Given the description of an element on the screen output the (x, y) to click on. 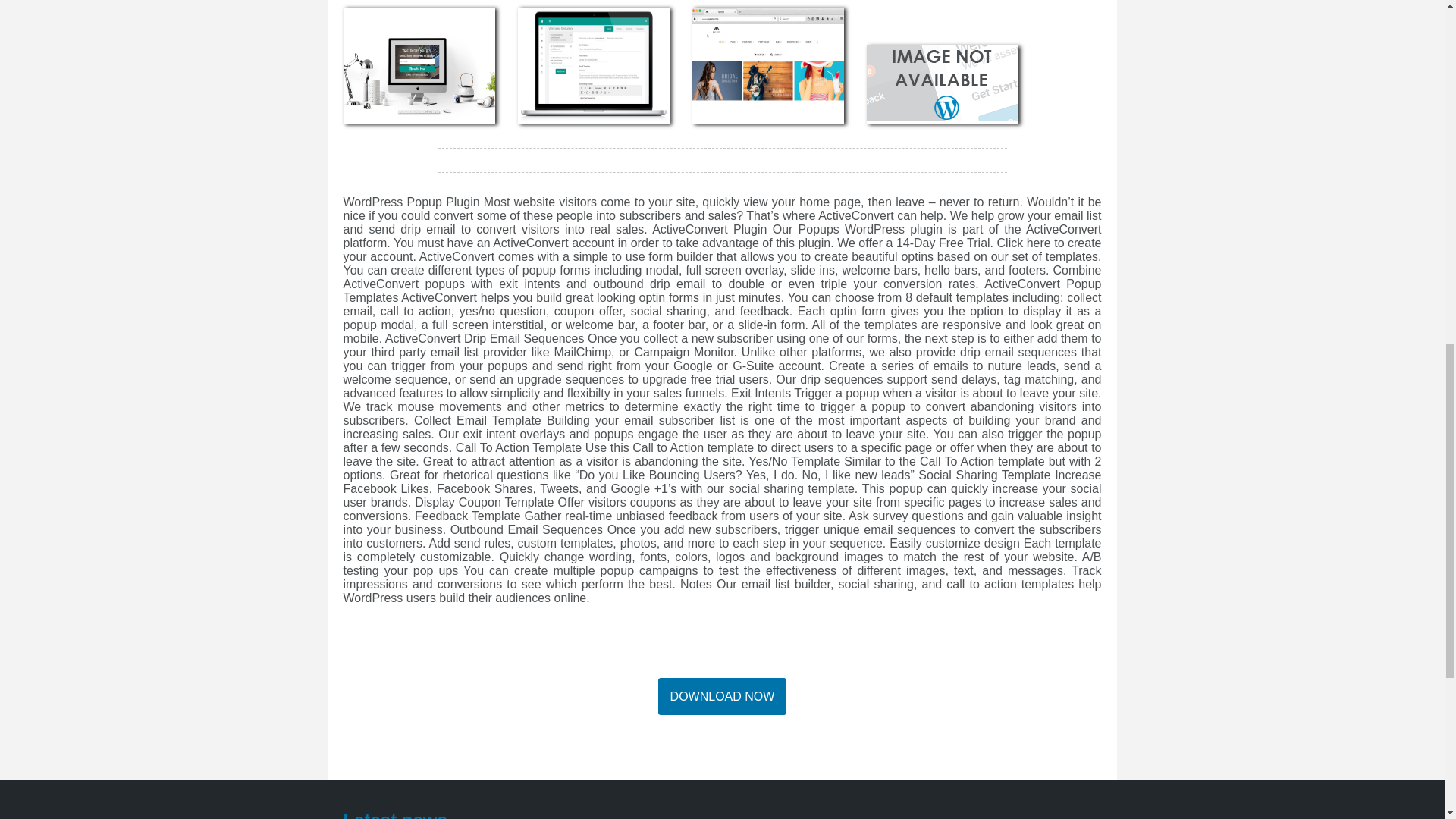
DOWNLOAD NOW (722, 696)
